Given the description of an element on the screen output the (x, y) to click on. 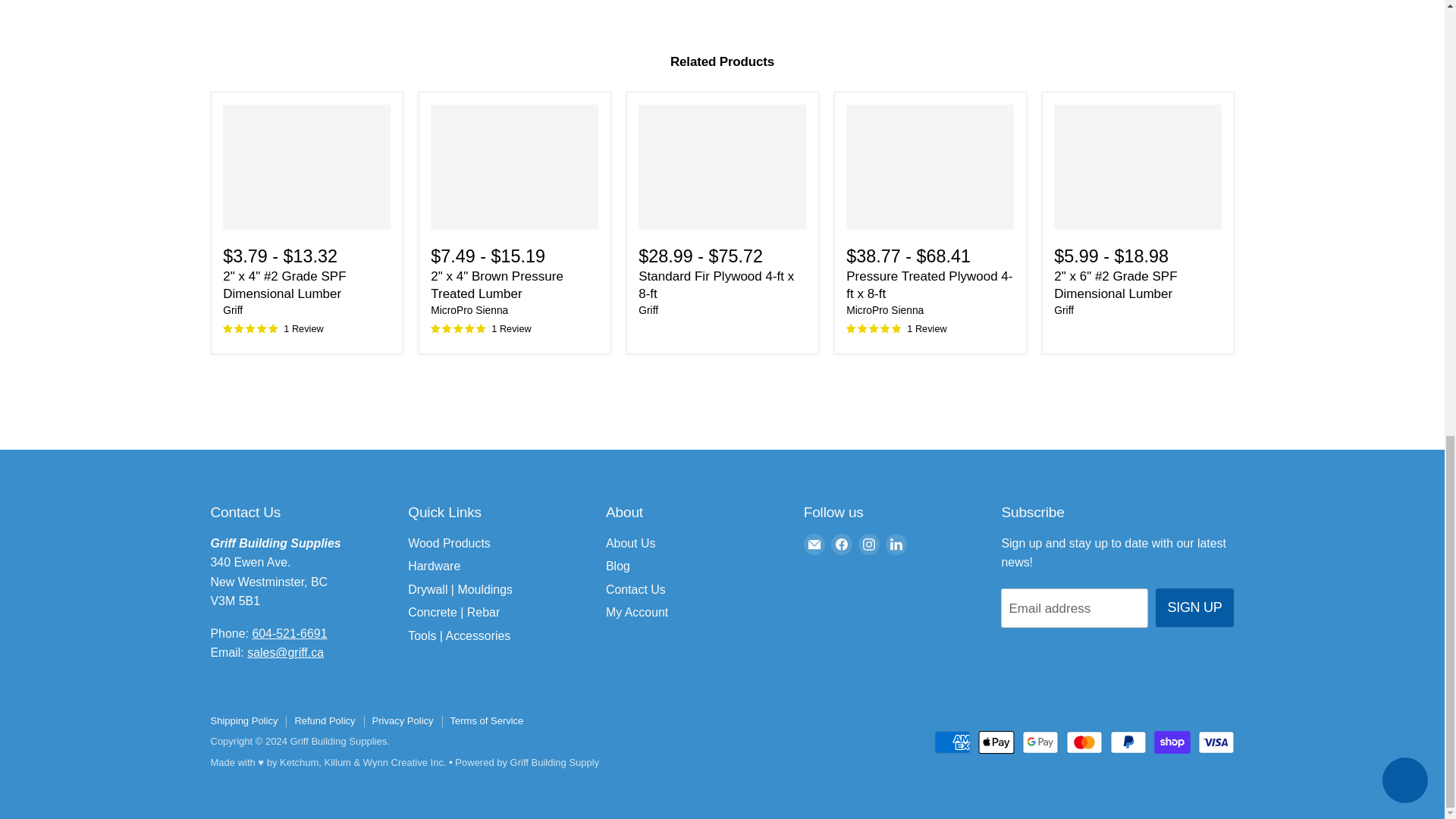
Griff (1064, 309)
tel:604-521-6691 (288, 633)
Facebook (841, 544)
Griff (648, 309)
MicroPro Sienna (884, 309)
Griff (232, 309)
MicroPro Sienna (469, 309)
Instagram (869, 544)
LinkedIn (896, 544)
Email (814, 544)
